Given the description of an element on the screen output the (x, y) to click on. 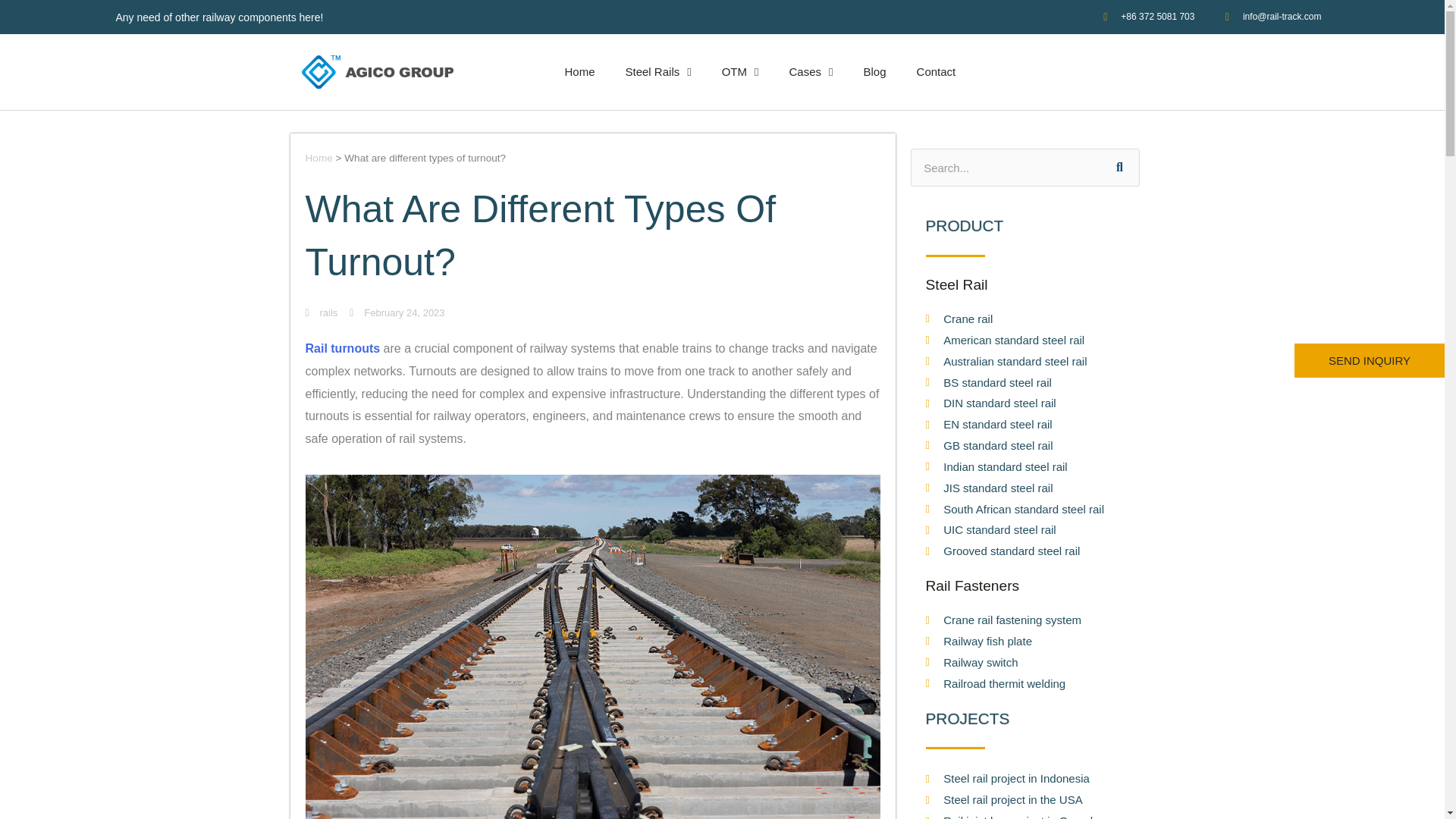
Steel Rails (658, 71)
OTM (740, 71)
Contact (936, 71)
Any need of other railway components here! (219, 16)
Cases (811, 71)
